Given the description of an element on the screen output the (x, y) to click on. 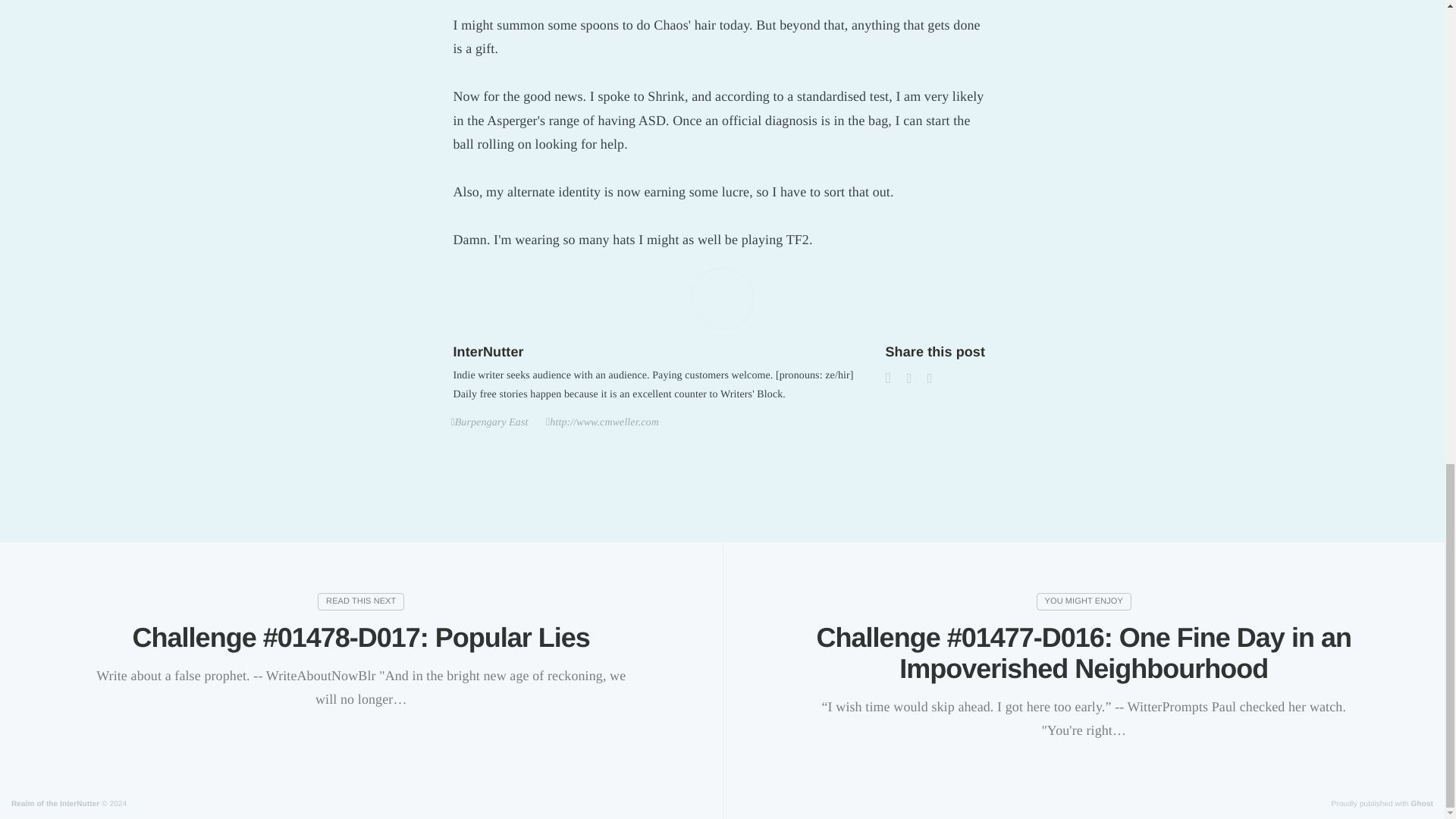
InterNutter (488, 351)
